Given the description of an element on the screen output the (x, y) to click on. 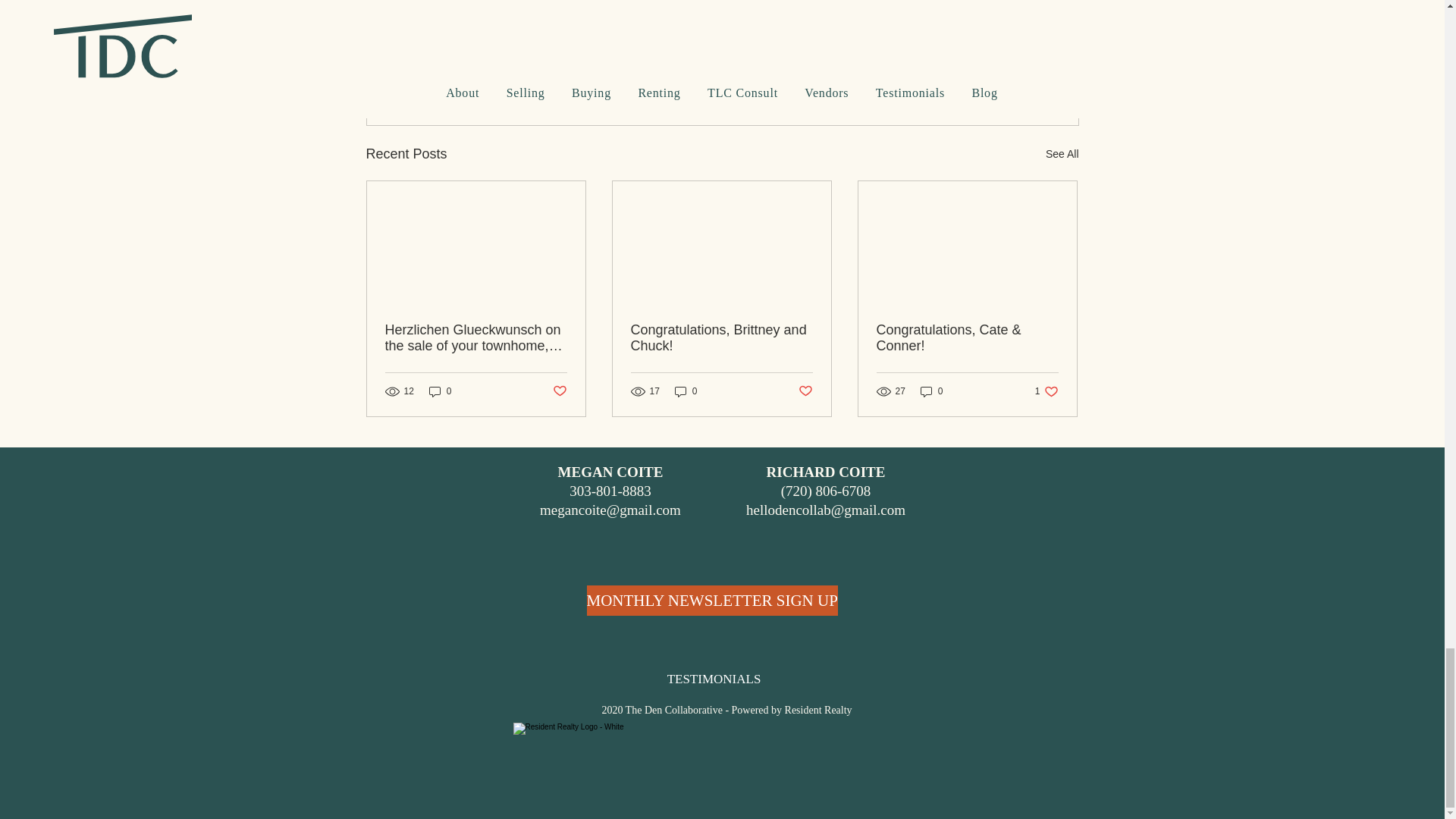
0 (440, 391)
SOLD Properties (963, 26)
0 (685, 391)
0 (931, 391)
Post not marked as liked (804, 391)
Post not marked as liked (558, 391)
See All (1061, 154)
Post not marked as liked (995, 71)
Congratulations, Brittney and Chuck! (721, 337)
